Given the description of an element on the screen output the (x, y) to click on. 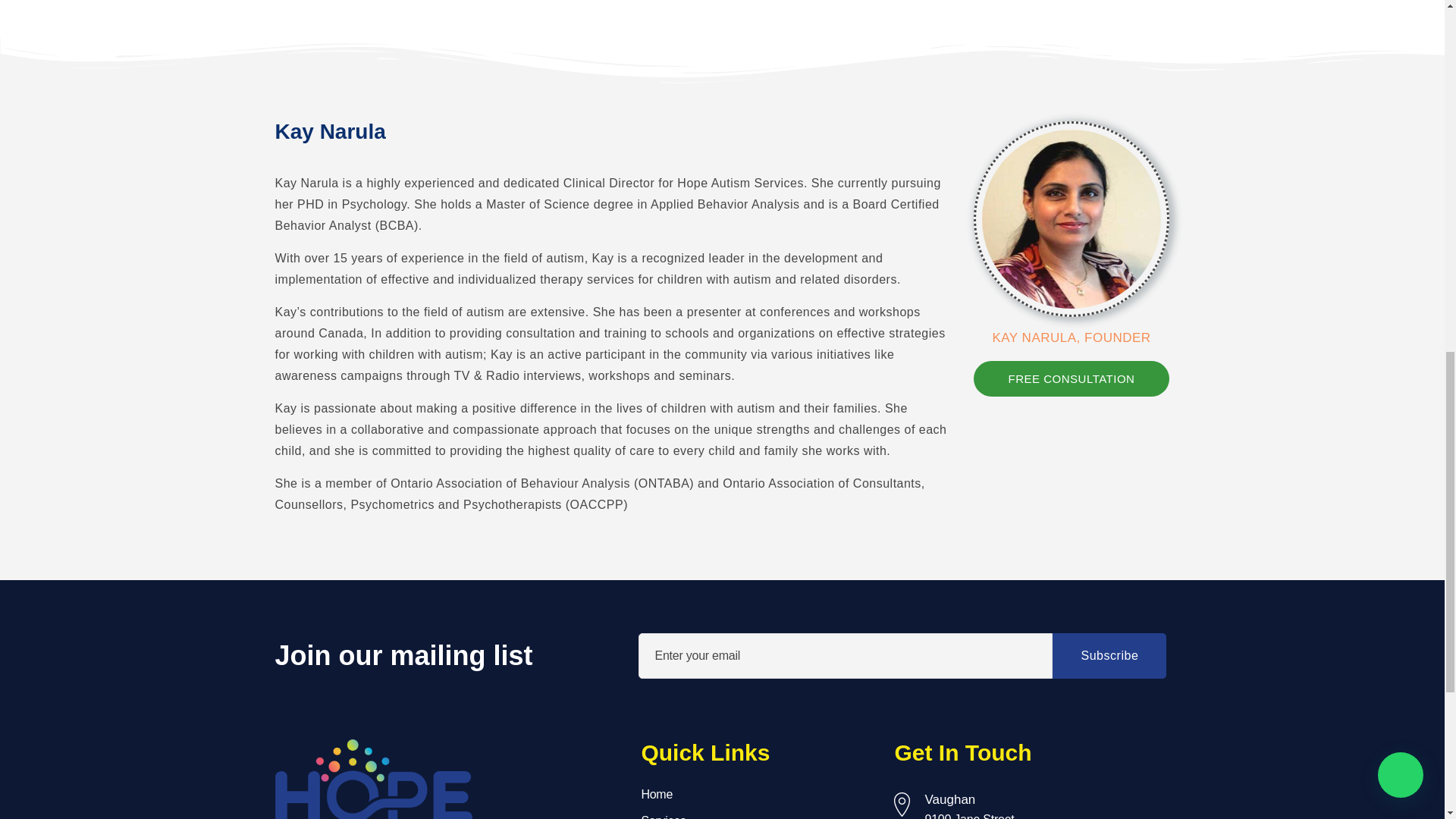
Subscribe (1109, 655)
